Given the description of an element on the screen output the (x, y) to click on. 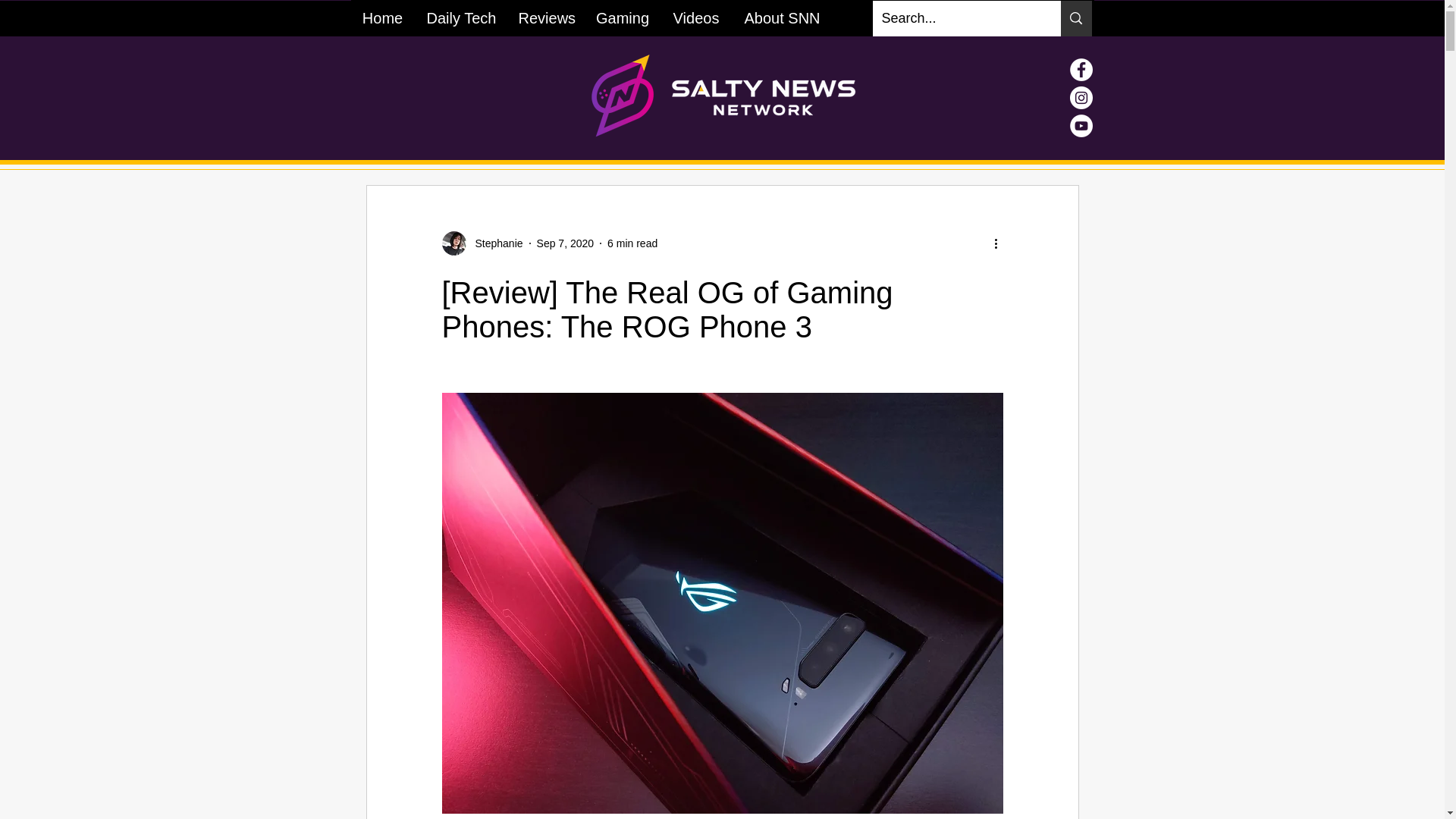
Home (381, 18)
Stephanie (481, 242)
Stephanie (493, 242)
Videos (695, 18)
About SNN (781, 18)
Gaming (622, 18)
Reviews (544, 18)
Sep 7, 2020 (565, 242)
6 min read (632, 242)
Daily Tech (459, 18)
